Given the description of an element on the screen output the (x, y) to click on. 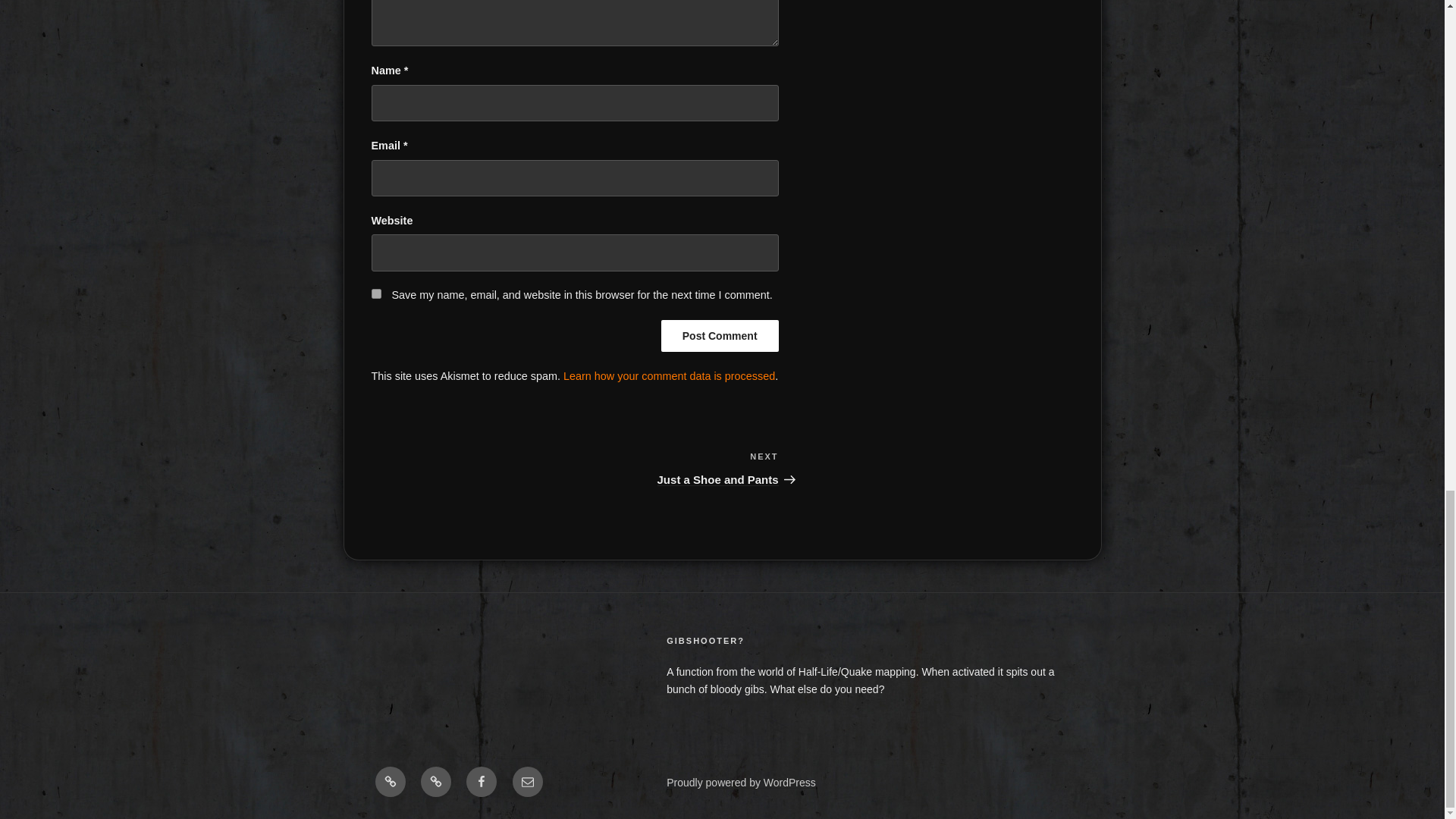
yes (376, 293)
Post Comment (719, 336)
